Given the description of an element on the screen output the (x, y) to click on. 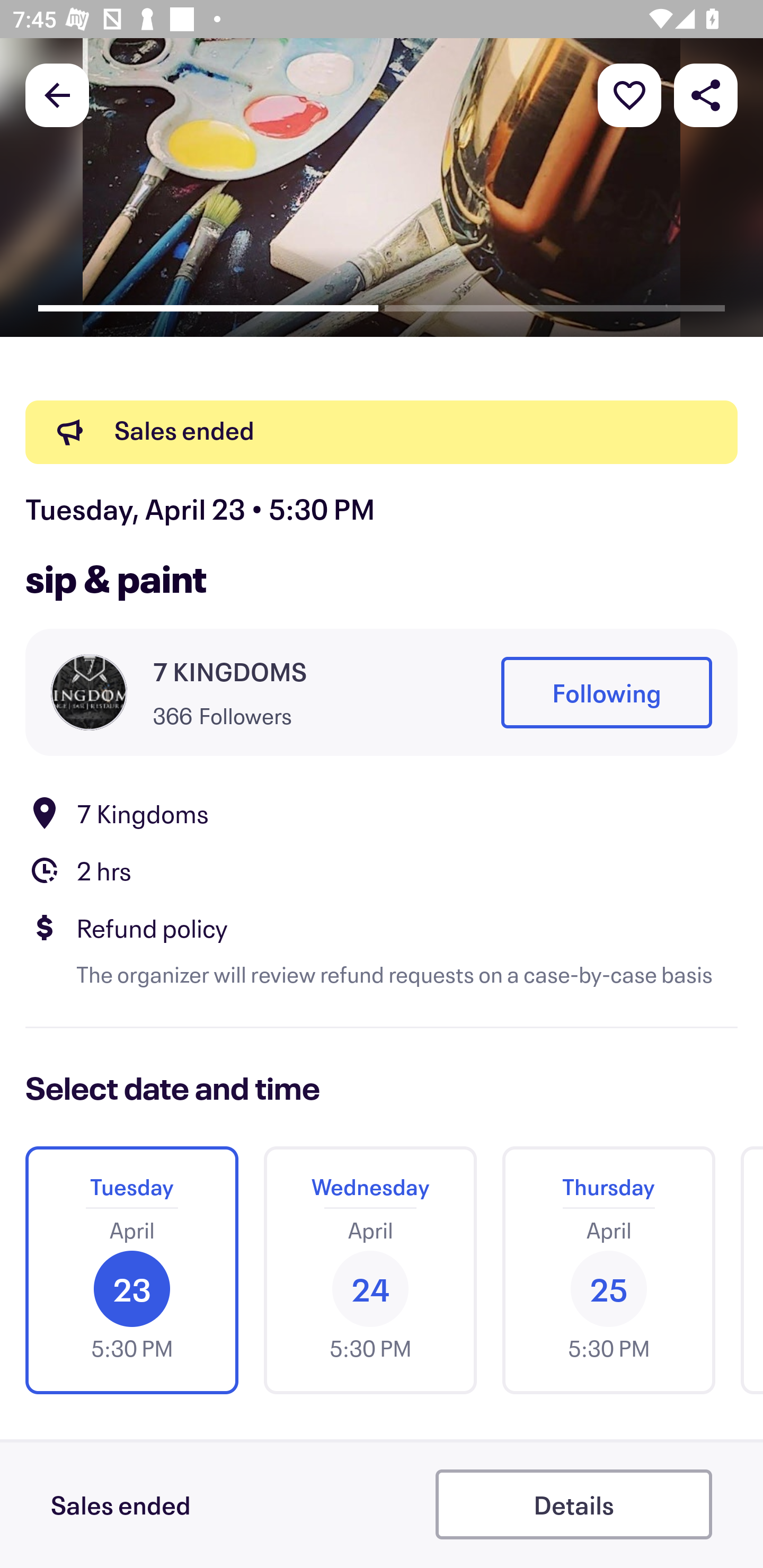
Back (57, 94)
More (629, 94)
Share (705, 94)
7 KINGDOMS (229, 671)
Organizer profile picture (89, 691)
Following (606, 692)
Location 7 Kingdoms (381, 812)
Tuesday April 23 5:30 PM (131, 1269)
Wednesday April 24 5:30 PM (370, 1269)
Thursday April 25 5:30 PM (608, 1269)
Details (573, 1504)
